Given the description of an element on the screen output the (x, y) to click on. 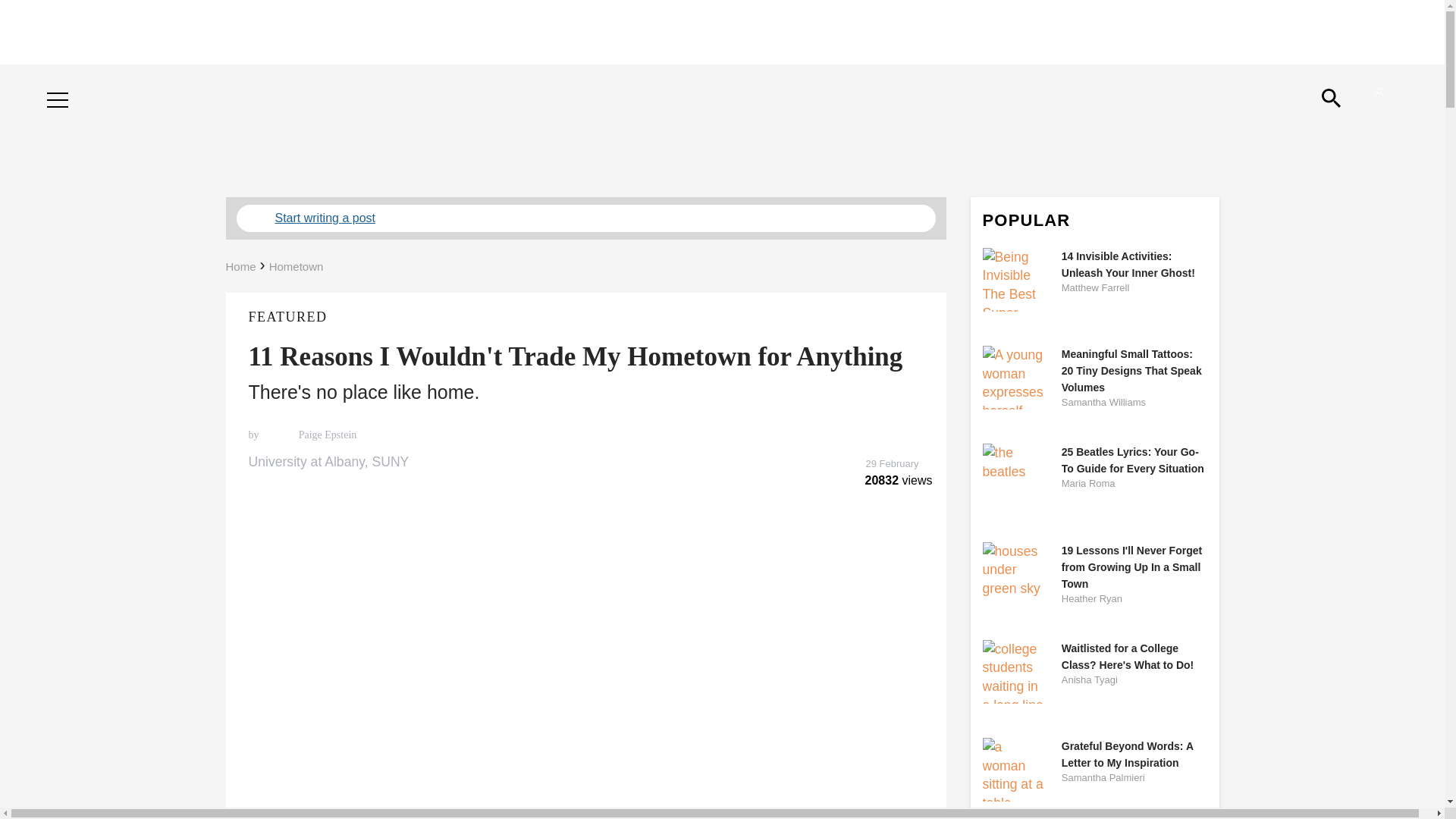
Start writing a post (585, 217)
GO BACK (79, 85)
University at Albany, SUNY (585, 461)
Hometown (296, 266)
Paige Epstein (325, 434)
Home (240, 266)
11 Reasons I Wouldn't Trade My Hometown for Anything (575, 356)
